Given the description of an element on the screen output the (x, y) to click on. 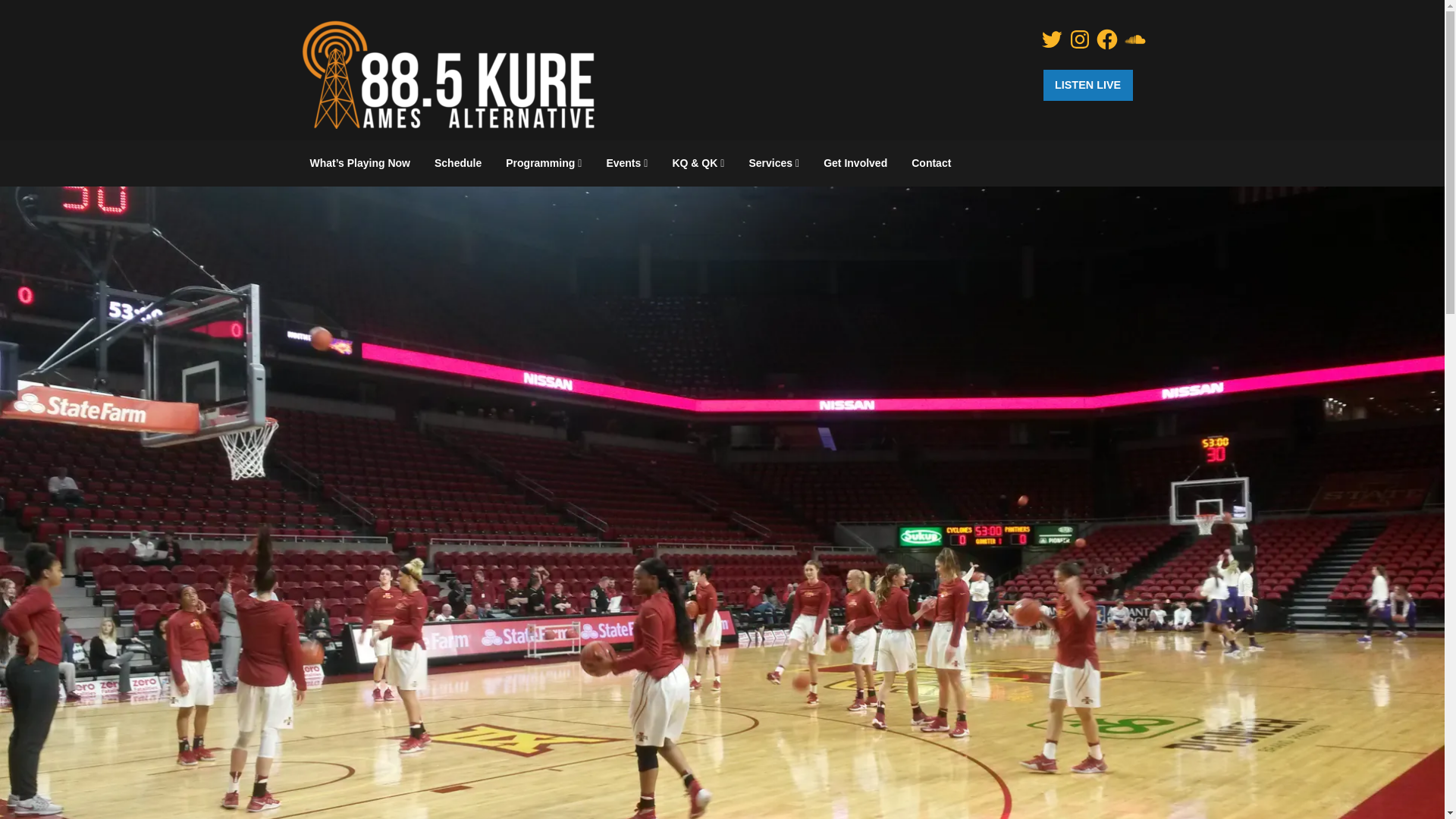
Instagram (1079, 39)
Contact (930, 162)
Programming (543, 163)
Facebook (1106, 39)
Services (773, 163)
LISTEN LIVE (1087, 84)
Events (626, 163)
SoundCloud (1134, 39)
Get Involved (854, 162)
Schedule (457, 162)
